Given the description of an element on the screen output the (x, y) to click on. 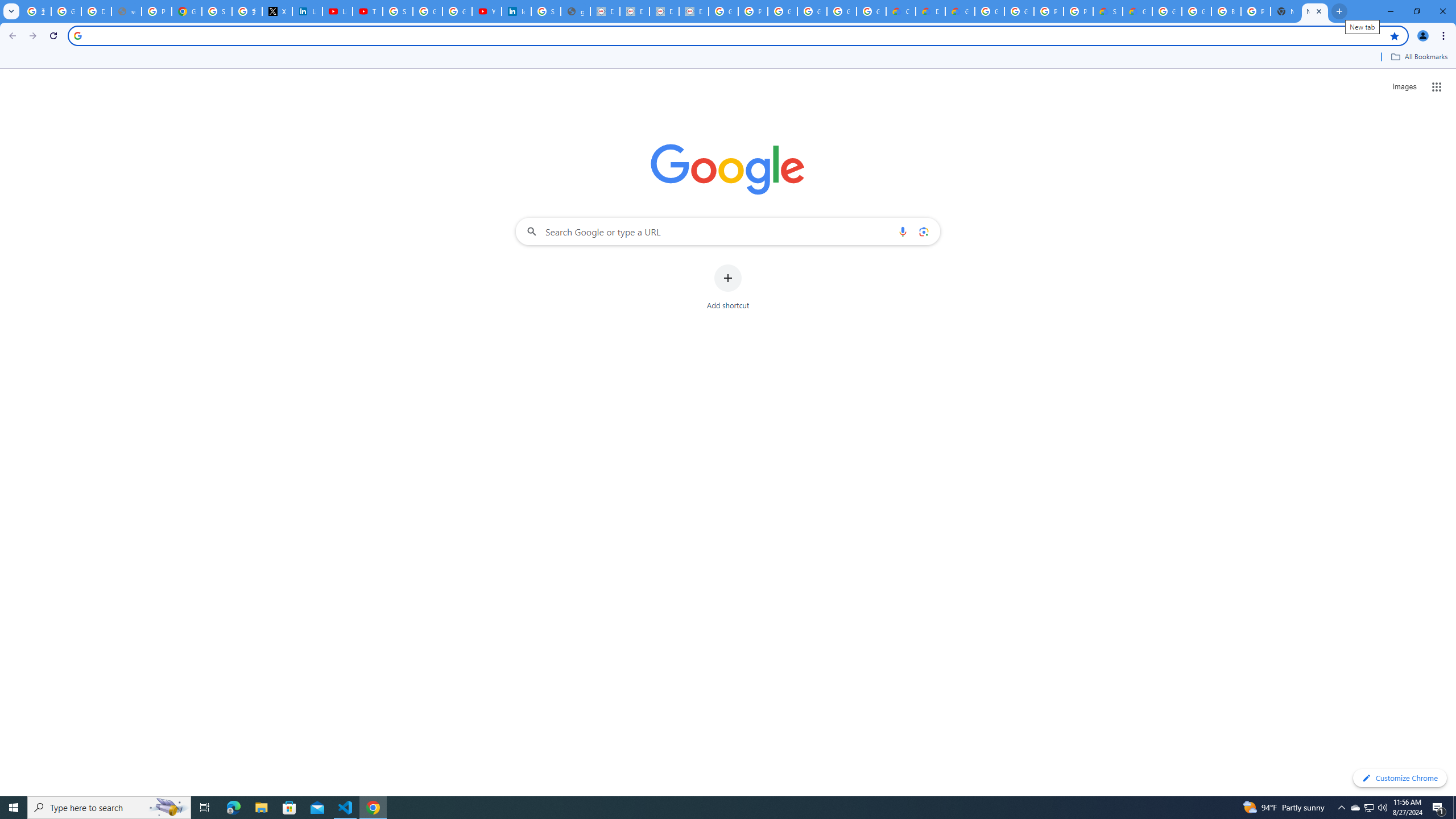
Data Privacy Framework (604, 11)
Support Hub | Google Cloud (1107, 11)
New Tab (1314, 11)
Sign in - Google Accounts (216, 11)
Google Workspace - Specific Terms (871, 11)
Search icon (77, 35)
Sign in - Google Accounts (397, 11)
